Given the description of an element on the screen output the (x, y) to click on. 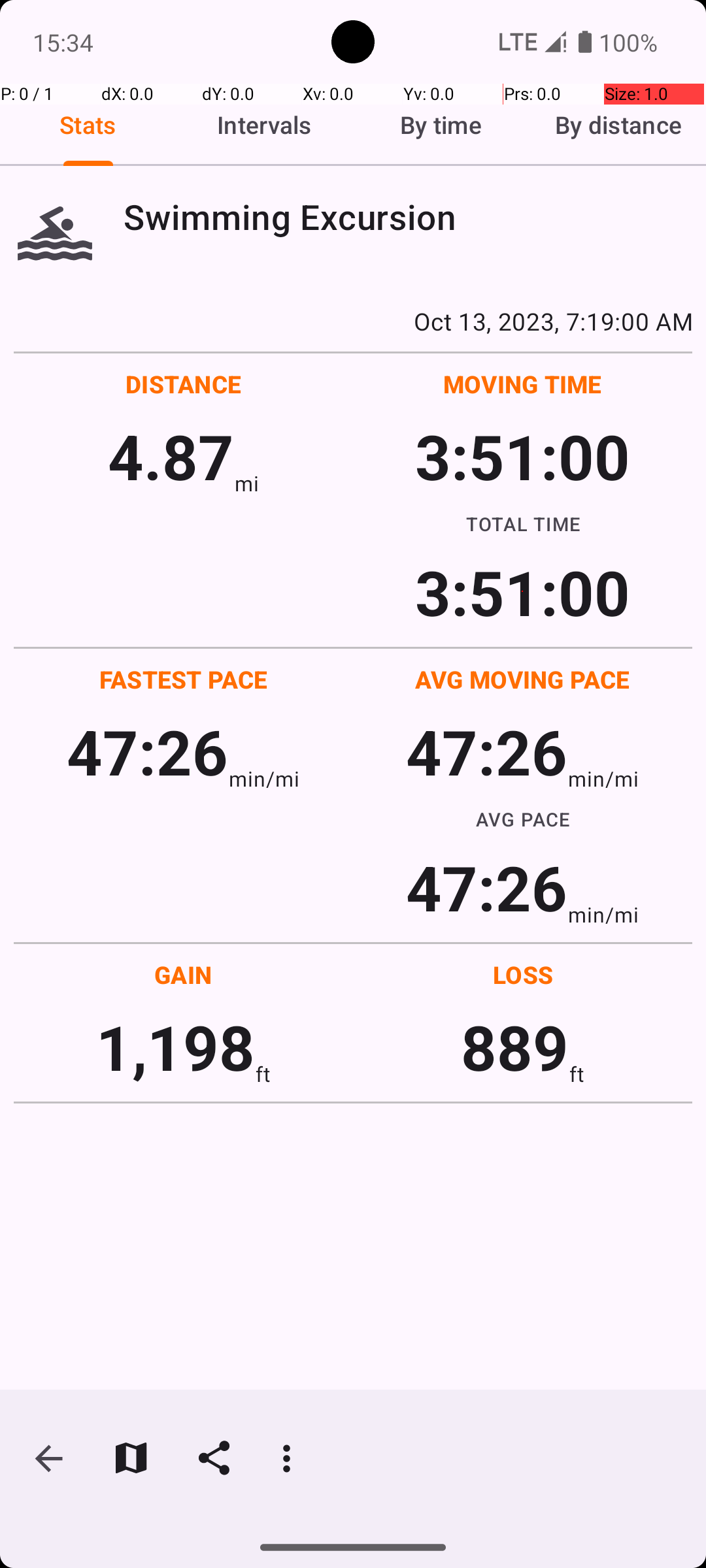
Swimming Excursion Element type: android.widget.TextView (407, 216)
Oct 13, 2023, 7:19:00 AM Element type: android.widget.TextView (352, 320)
4.87 Element type: android.widget.TextView (170, 455)
3:51:00 Element type: android.widget.TextView (522, 455)
47:26 Element type: android.widget.TextView (147, 750)
1,198 Element type: android.widget.TextView (175, 1045)
889 Element type: android.widget.TextView (514, 1045)
